Given the description of an element on the screen output the (x, y) to click on. 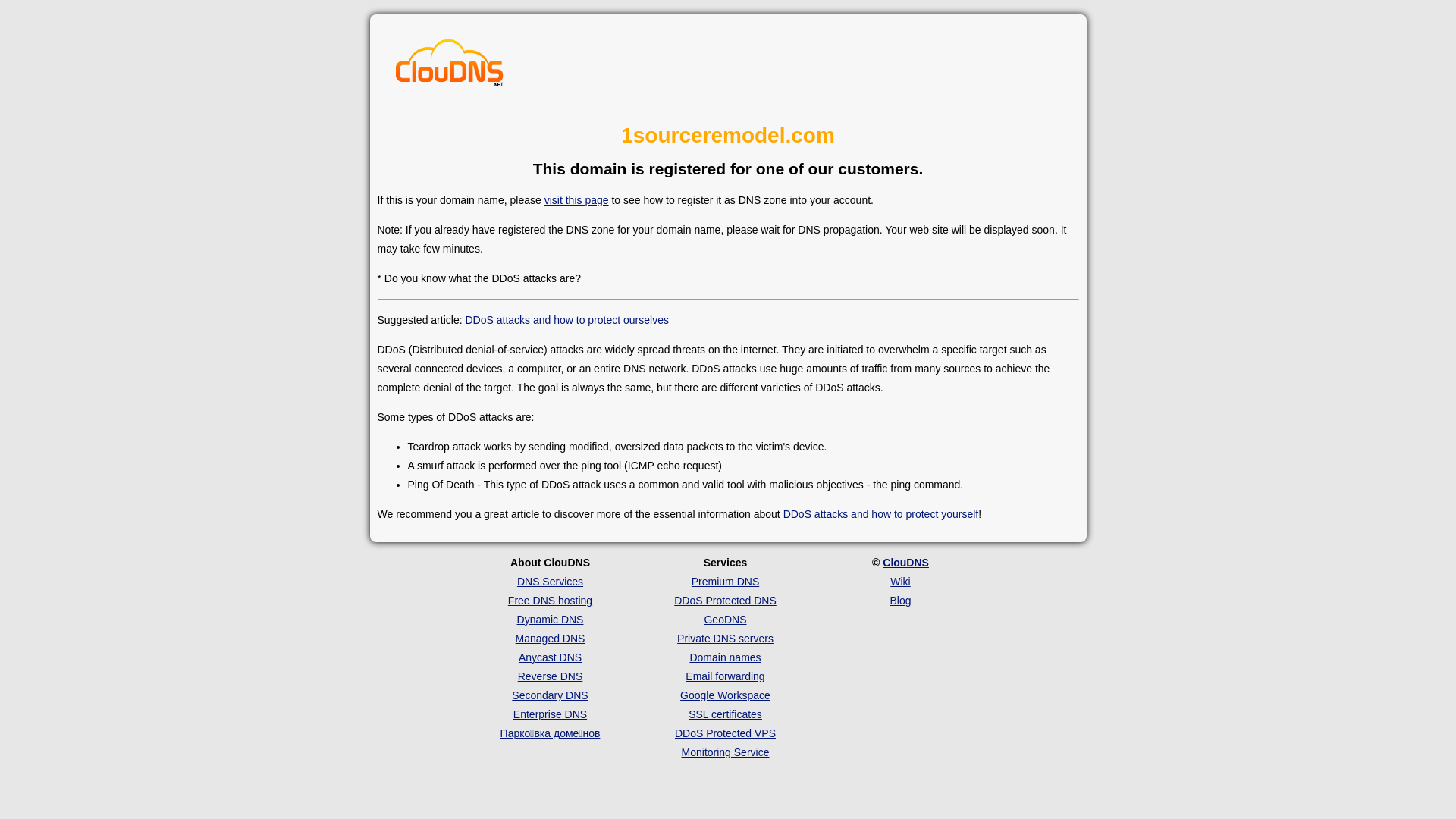
Free DNS hosting Element type: text (550, 600)
Blog Element type: text (899, 600)
Domain names Element type: text (724, 657)
Secondary DNS Element type: text (549, 695)
Email forwarding Element type: text (724, 676)
GeoDNS Element type: text (724, 619)
ClouDNS Element type: text (905, 562)
Premium DNS Element type: text (725, 581)
Anycast DNS Element type: text (549, 657)
DDoS Protected DNS Element type: text (725, 600)
Managed DNS Element type: text (550, 638)
visit this page Element type: text (576, 200)
DNS Services Element type: text (550, 581)
Monitoring Service Element type: text (725, 752)
DDoS Protected VPS Element type: text (724, 733)
Dynamic DNS Element type: text (550, 619)
Private DNS servers Element type: text (725, 638)
Cloud DNS Element type: hover (449, 66)
DDoS attacks and how to protect yourself Element type: text (881, 514)
Enterprise DNS Element type: text (549, 714)
Wiki Element type: text (900, 581)
DDoS attacks and how to protect ourselves Element type: text (566, 319)
SSL certificates Element type: text (725, 714)
Reverse DNS Element type: text (550, 676)
Google Workspace Element type: text (725, 695)
